Given the description of an element on the screen output the (x, y) to click on. 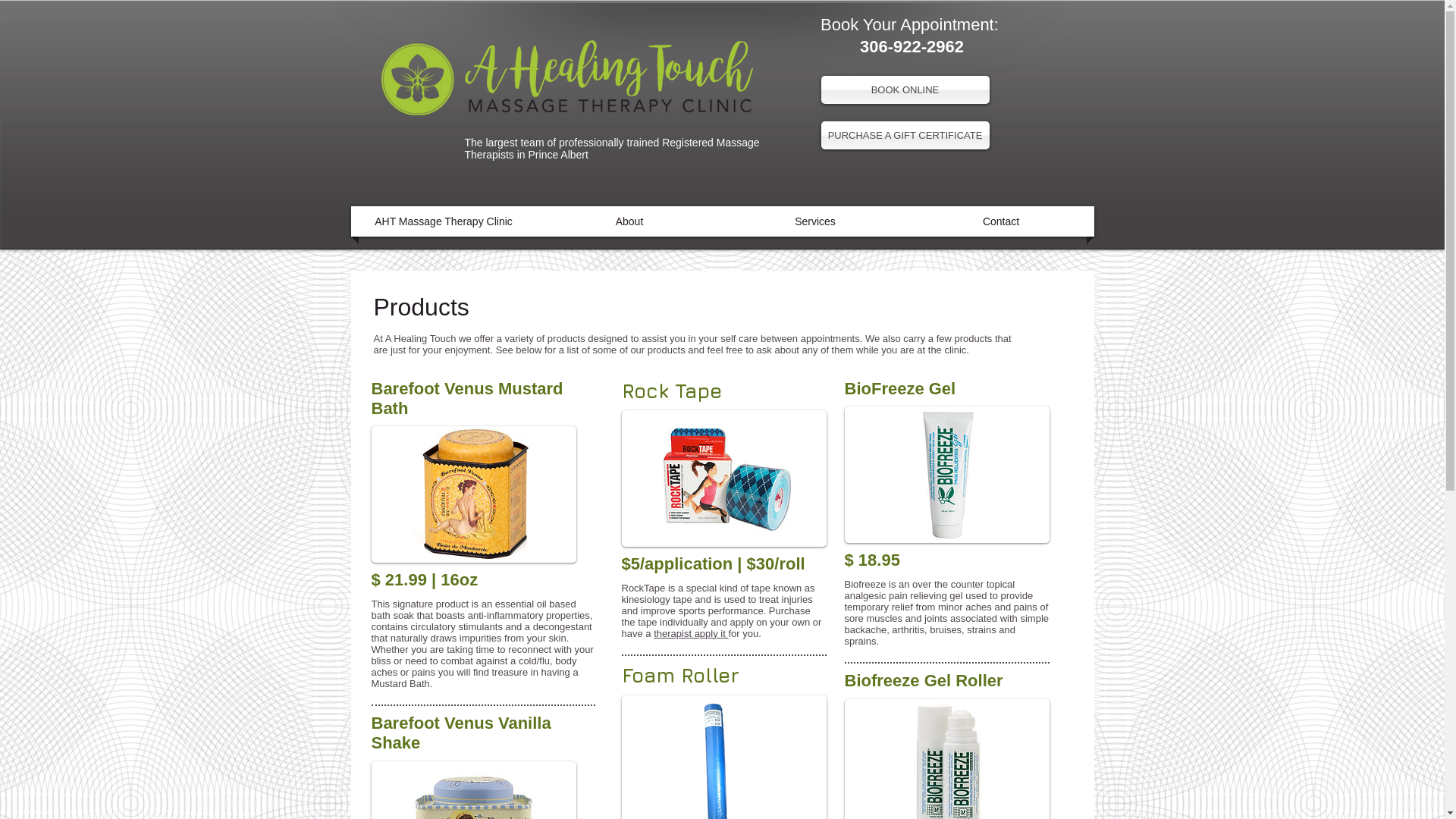
About Element type: text (628, 221)
biofreeze gel.jpg Element type: hover (946, 474)
PURCHASE A GIFT CERTIFICATE Element type: text (904, 135)
Services Element type: text (815, 221)
BOOK ONLINE Element type: text (904, 89)
rocktape_garmin_blue.jpg Element type: hover (723, 478)
therapist apply it Element type: text (690, 633)
Contact Element type: text (1000, 221)
Barefoot Venus Mustard Bath.jpg Element type: hover (473, 494)
AHT Massage Therapy Clinic Element type: text (443, 221)
